Given the description of an element on the screen output the (x, y) to click on. 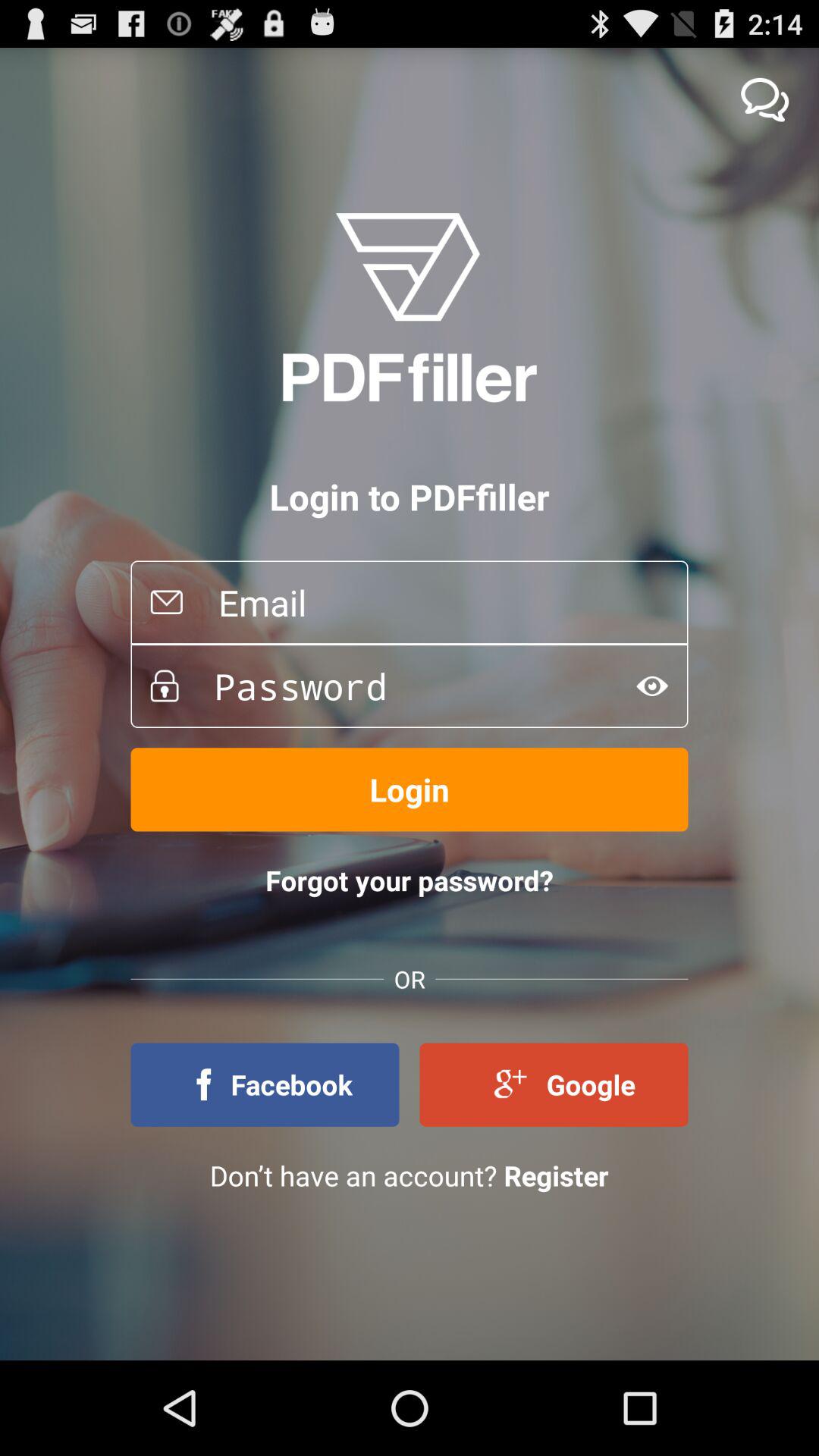
enter email (435, 602)
